Given the description of an element on the screen output the (x, y) to click on. 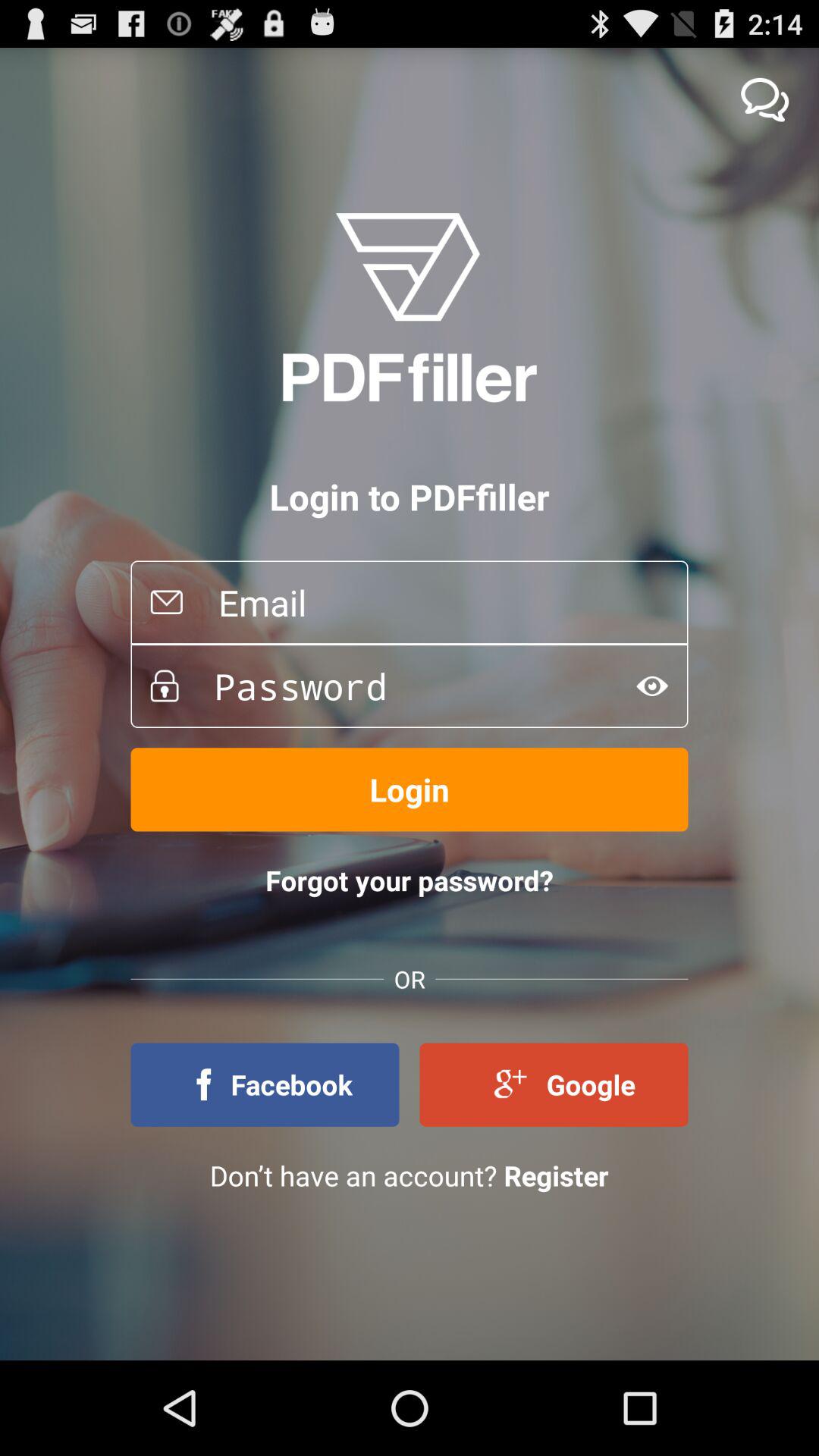
enter email (435, 602)
